Given the description of an element on the screen output the (x, y) to click on. 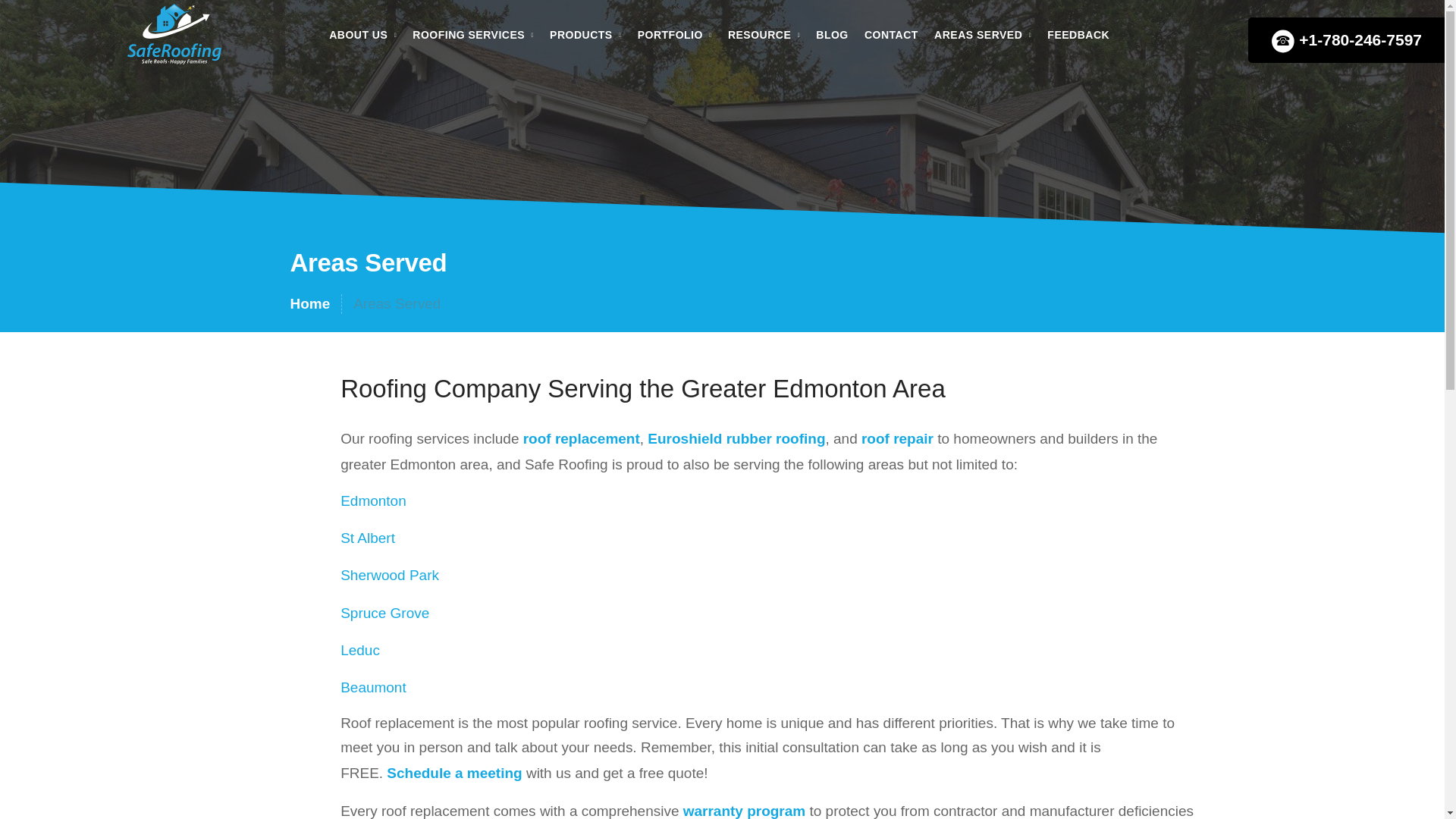
Roof Repair (897, 438)
Sherwood Park Roofer (389, 575)
Contact (891, 34)
Edmonton Roofing Company (175, 37)
BLOG (831, 34)
Blog (831, 34)
St Albert Roofer (367, 537)
Asphalt Roofing Replacement (581, 438)
Edmonton Roofer (373, 500)
Edmonton Roofing Contractor (175, 34)
